Given the description of an element on the screen output the (x, y) to click on. 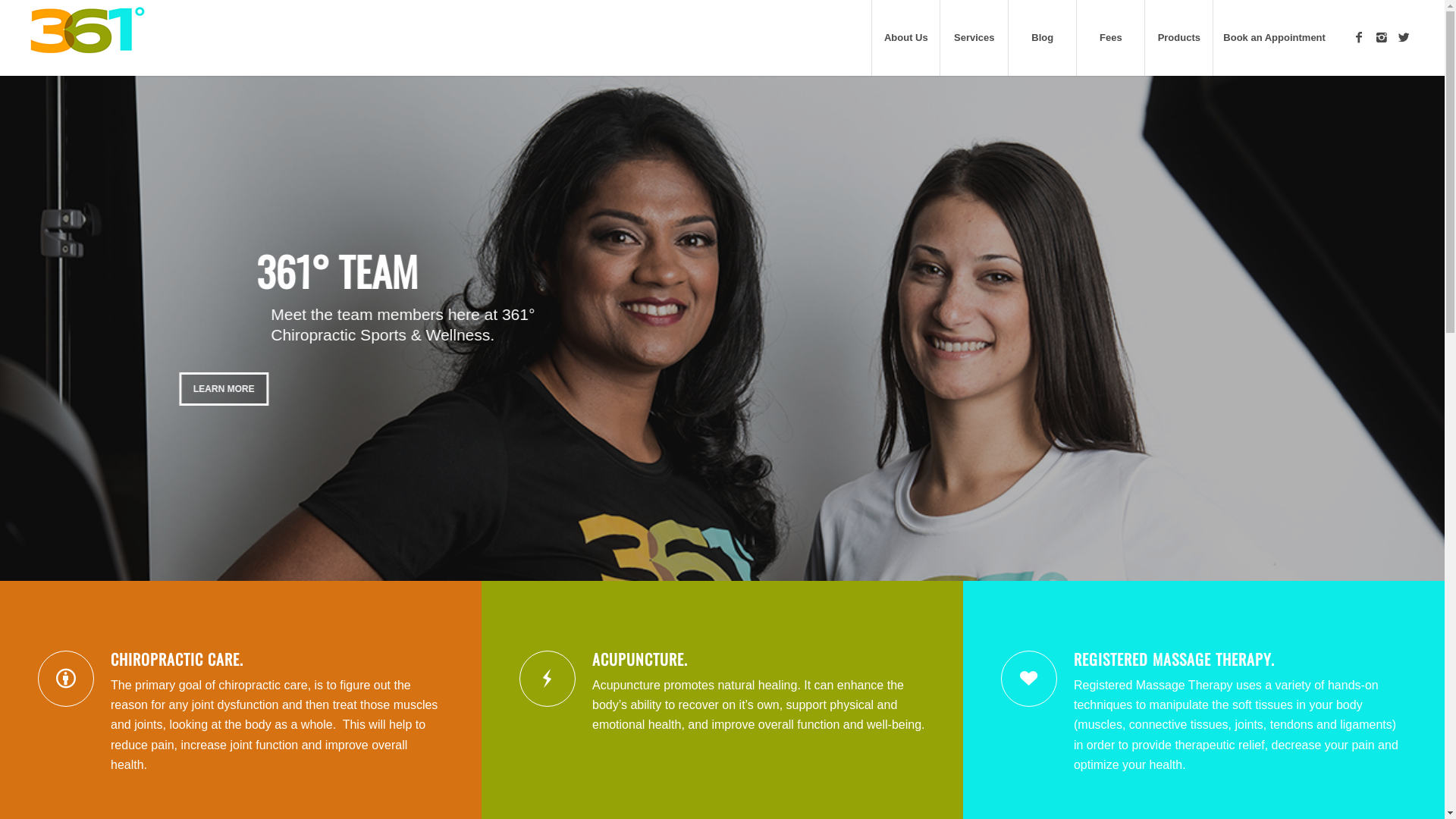
Facebook Element type: hover (1358, 36)
Instagram Element type: hover (1381, 36)
Twitter Element type: hover (1404, 36)
Blog Element type: text (1041, 37)
Book an Appointment Element type: text (1273, 37)
About Us Element type: text (905, 37)
Services Element type: text (973, 37)
b2 Element type: hover (722, 327)
Products Element type: text (1178, 37)
Fees Element type: text (1110, 37)
